Given the description of an element on the screen output the (x, y) to click on. 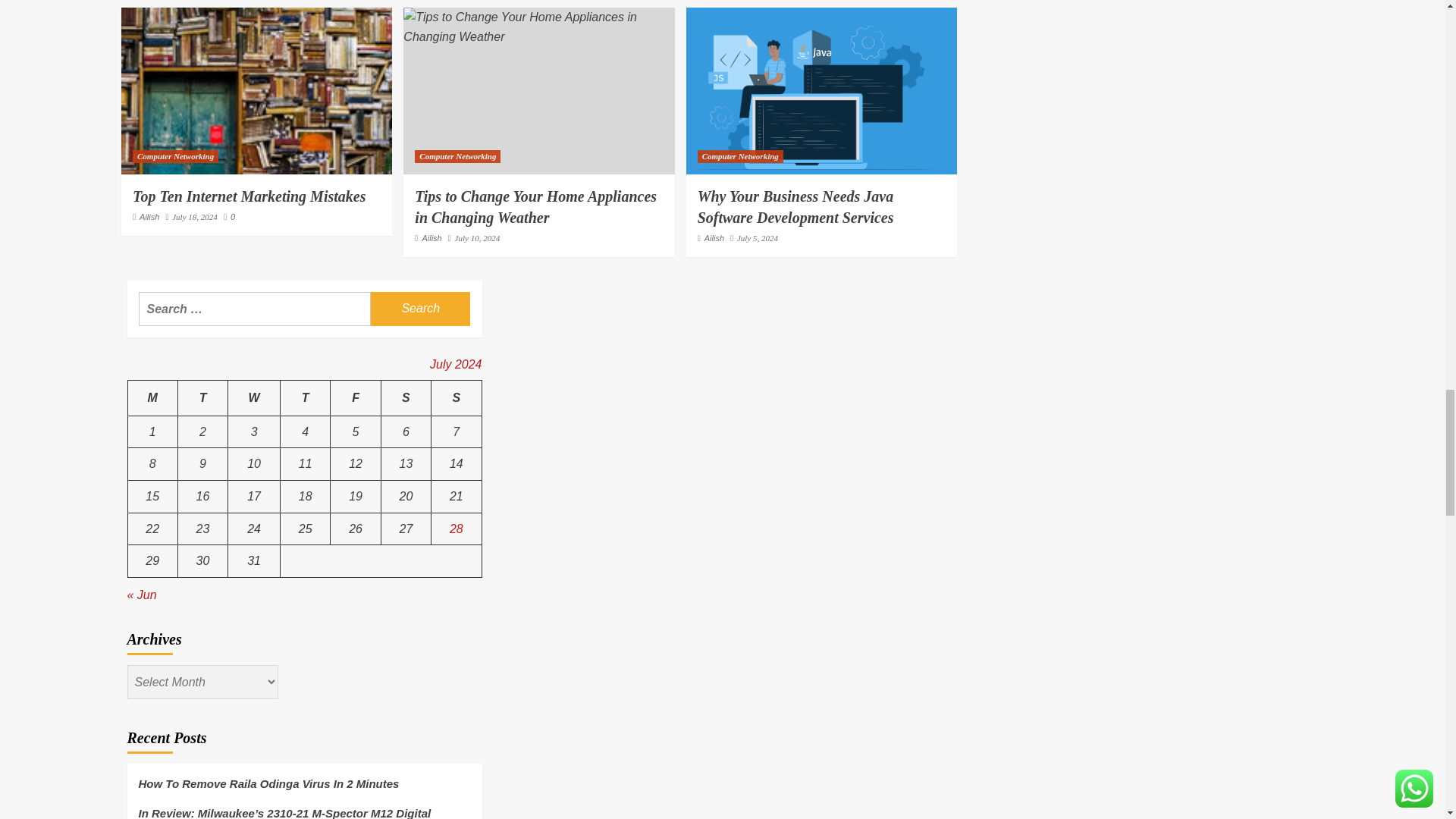
Top Ten Internet Marketing Mistakes (255, 90)
Monday (152, 398)
Search (420, 308)
Tuesday (202, 398)
Search (420, 308)
Wednesday (254, 398)
Why Your Business Needs Java Software Development Services (820, 90)
